Given the description of an element on the screen output the (x, y) to click on. 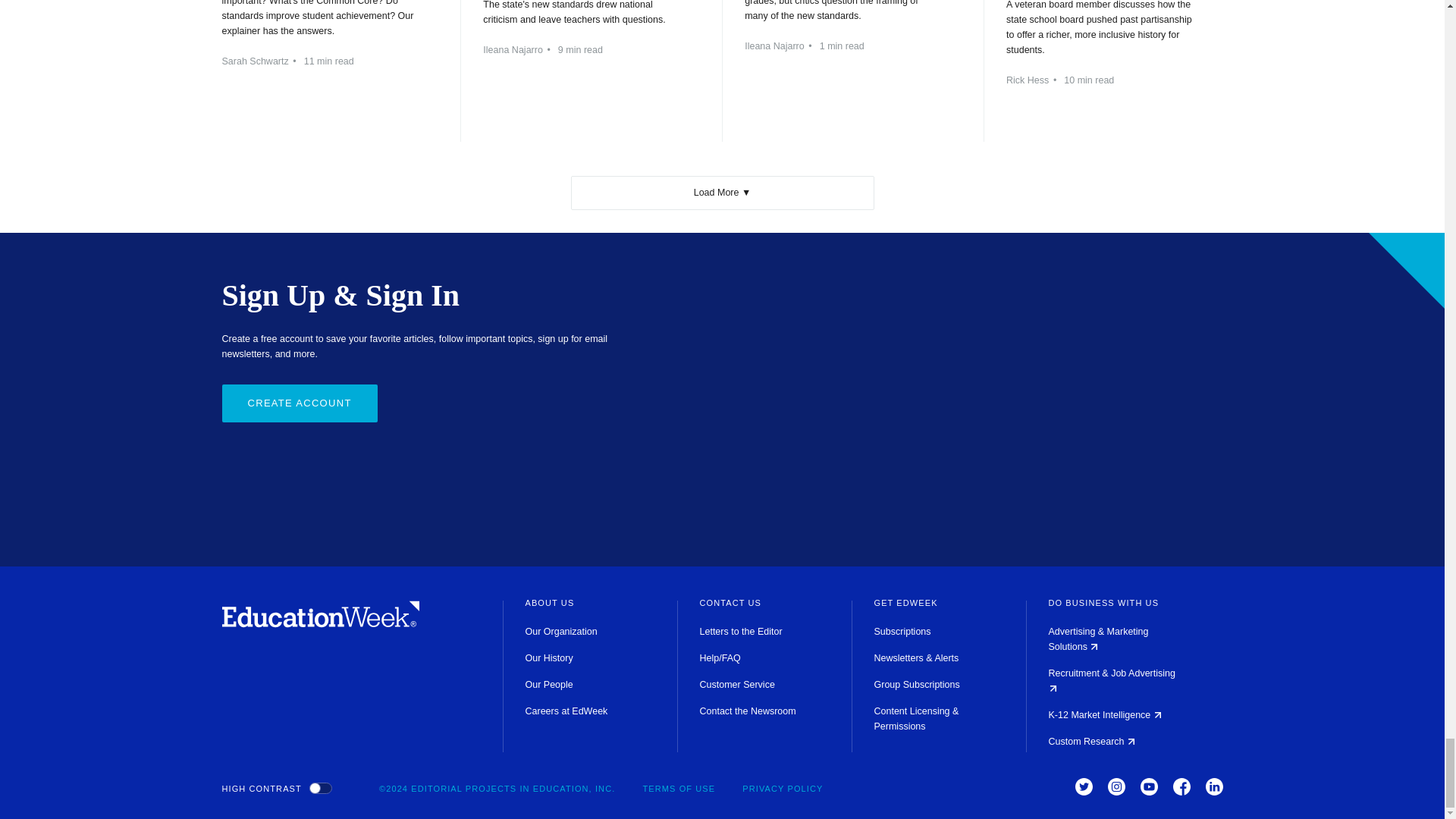
Homepage (320, 623)
